Given the description of an element on the screen output the (x, y) to click on. 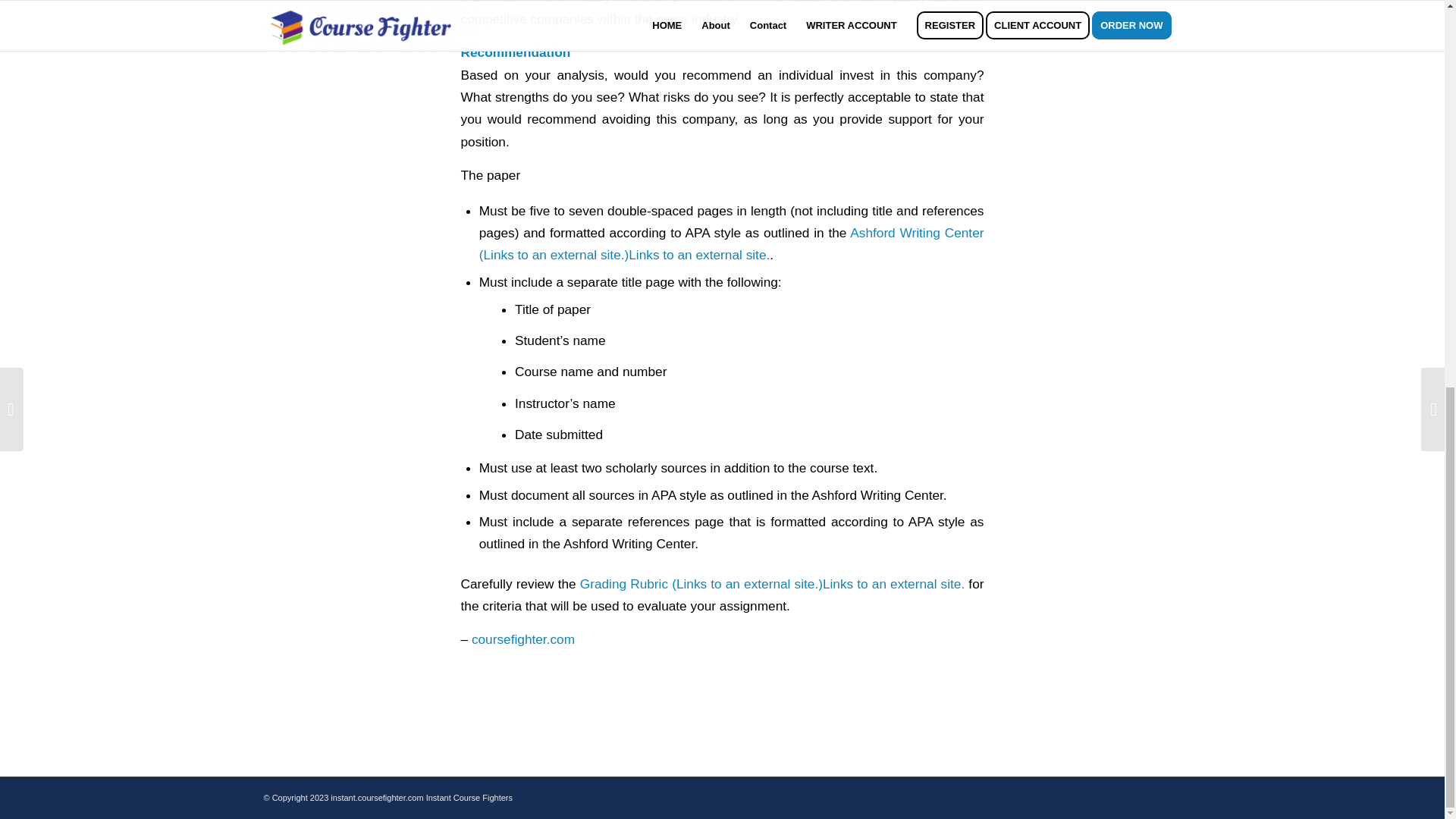
coursefighter.com (523, 639)
